Given the description of an element on the screen output the (x, y) to click on. 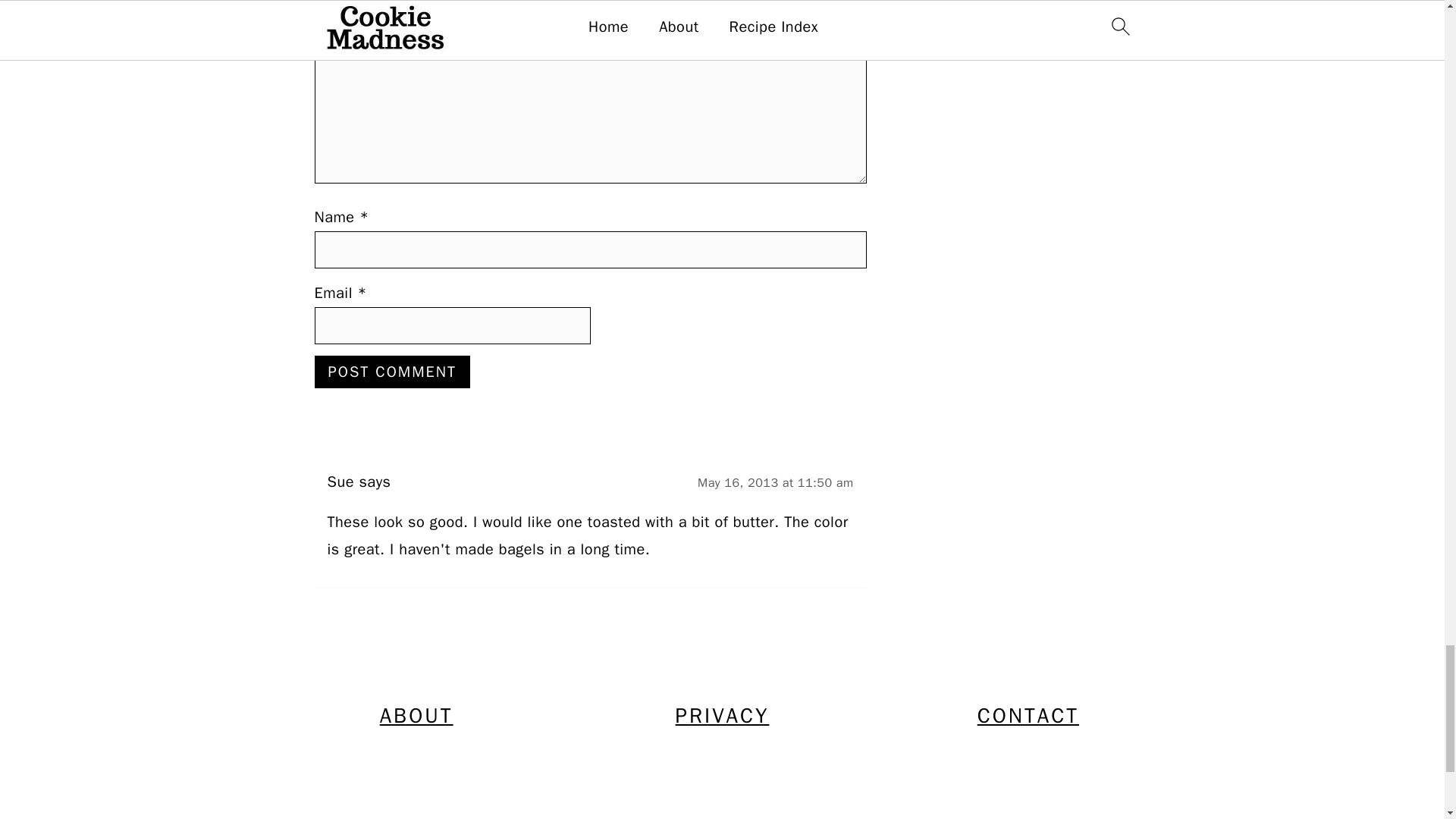
Post Comment (391, 371)
CONTACT (1027, 715)
ABOUT (416, 715)
Post Comment (391, 371)
PRIVACY (722, 715)
